Given the description of an element on the screen output the (x, y) to click on. 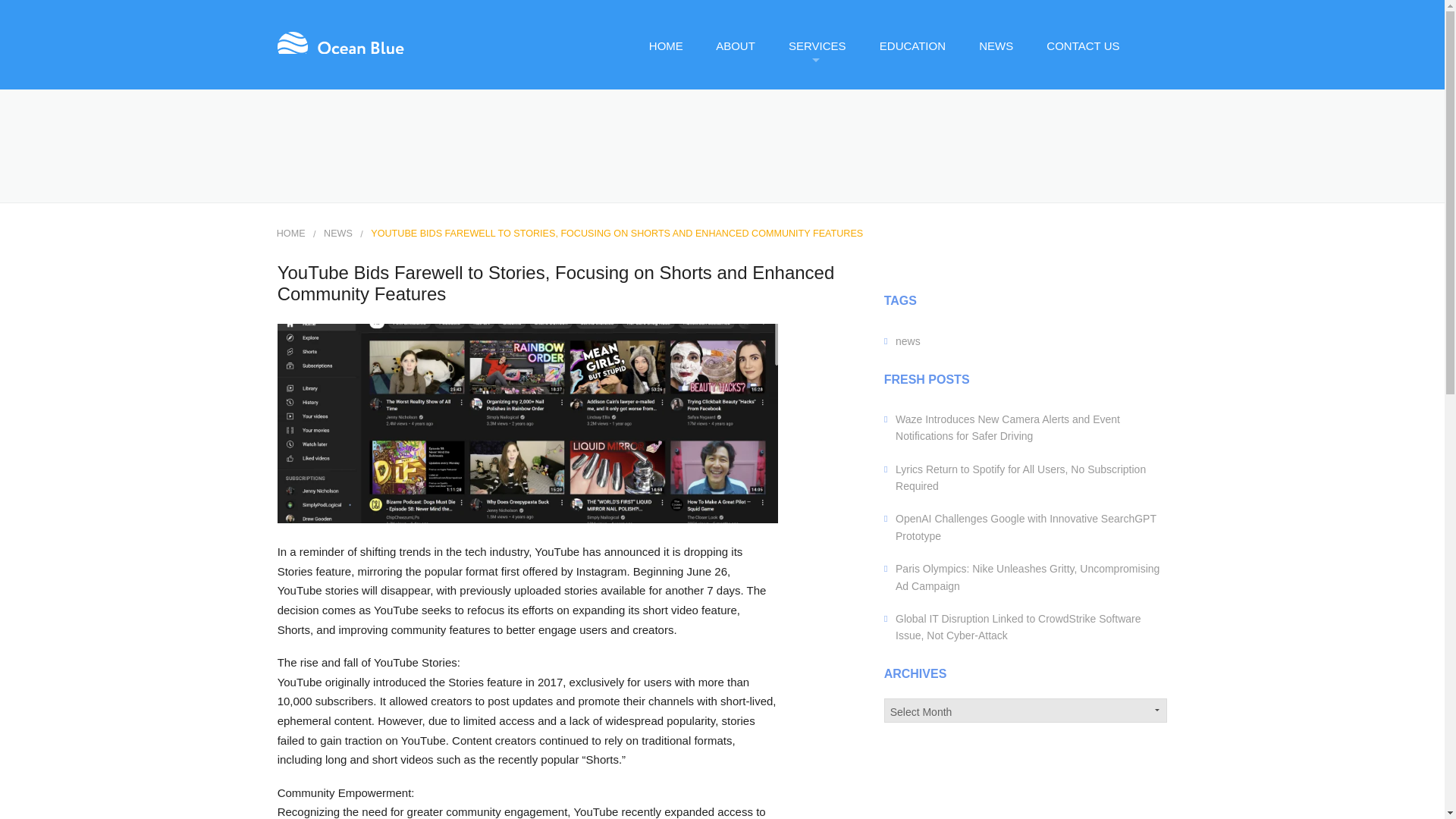
ABOUT (734, 45)
OUTSOURCE LEAD GENERATION (831, 213)
NEWS (994, 45)
NEWS (337, 233)
EDUCATION (910, 45)
OpenAI Challenges Google with Innovative SearchGPT Prototype (1025, 526)
news (907, 340)
SERVICES (816, 45)
DIGITAL MARKETING (831, 177)
TRAFFIC BUYING. EMAIL OUTREACH (831, 319)
HOME (290, 233)
